Given the description of an element on the screen output the (x, y) to click on. 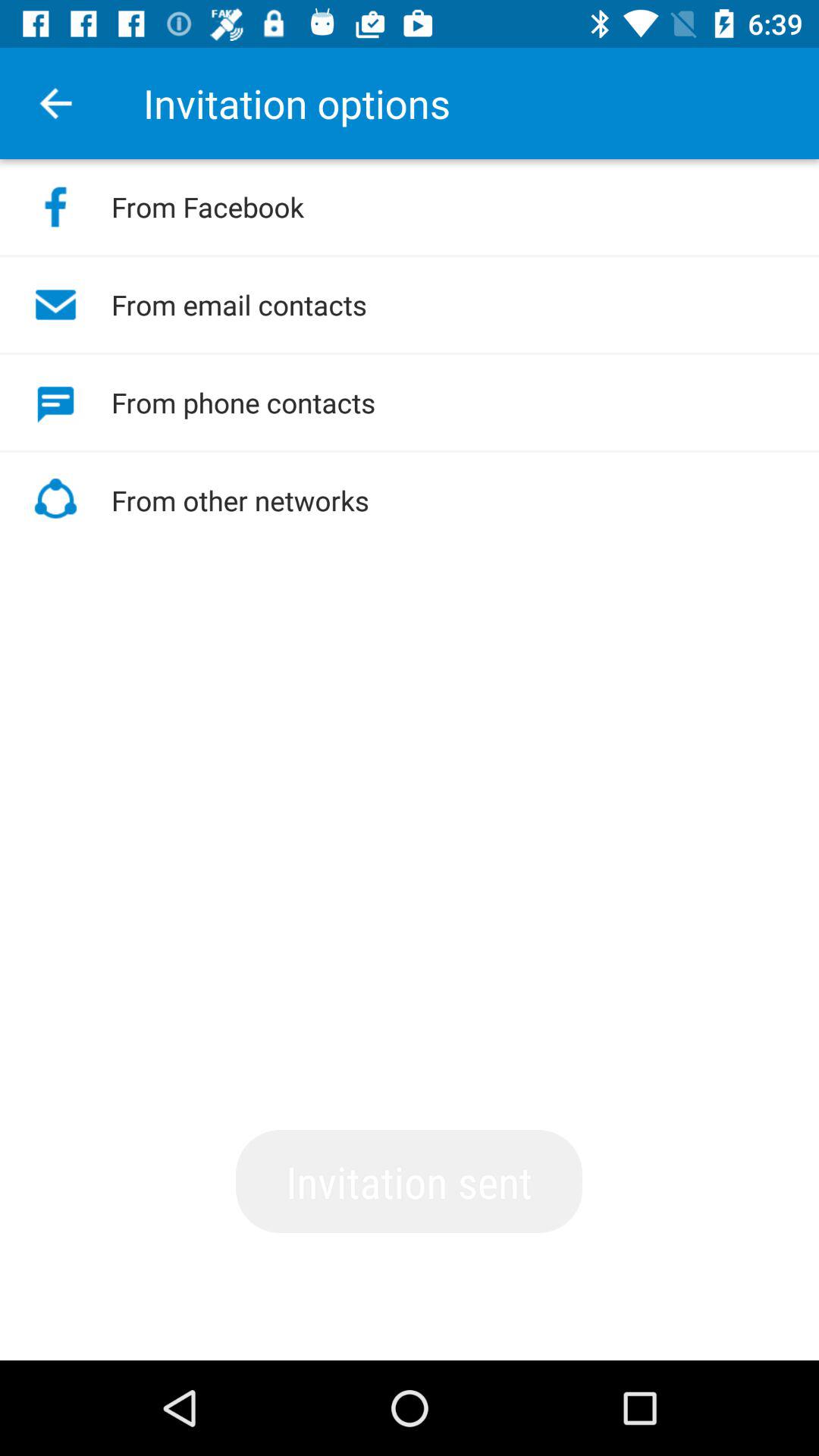
choose icon next to the invitation options item (55, 103)
